Given the description of an element on the screen output the (x, y) to click on. 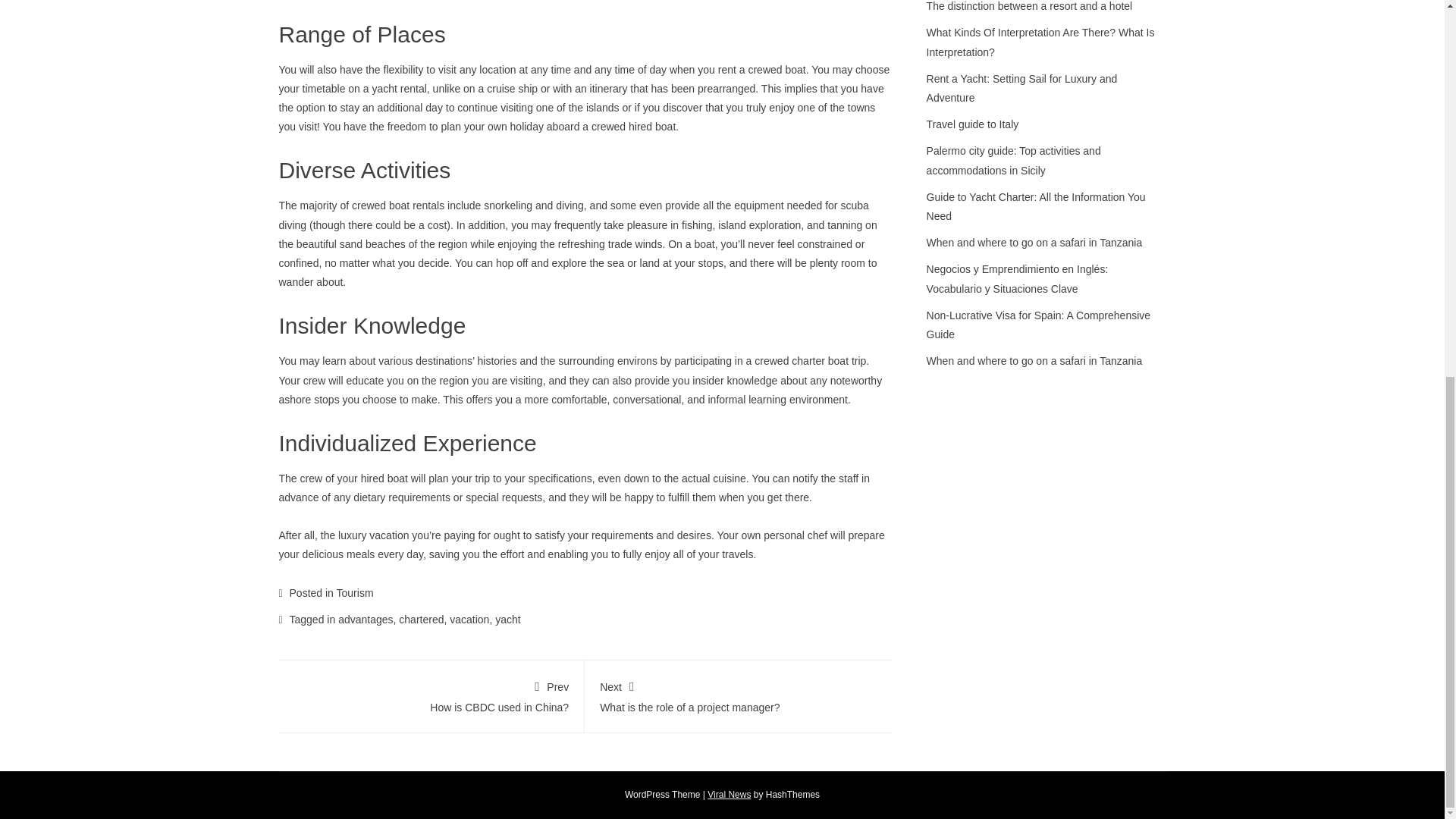
Tourism (355, 592)
Rent a Yacht: Setting Sail for Luxury and Adventure (1022, 88)
yacht (507, 619)
Non-Lucrative Visa for Spain: A Comprehensive Guide (1038, 324)
Download Viral News (729, 794)
advantages (431, 694)
When and where to go on a safari in Tanzania (737, 694)
vacation (365, 619)
When and where to go on a safari in Tanzania (1034, 242)
Viral News (469, 619)
chartered (1034, 360)
